Given the description of an element on the screen output the (x, y) to click on. 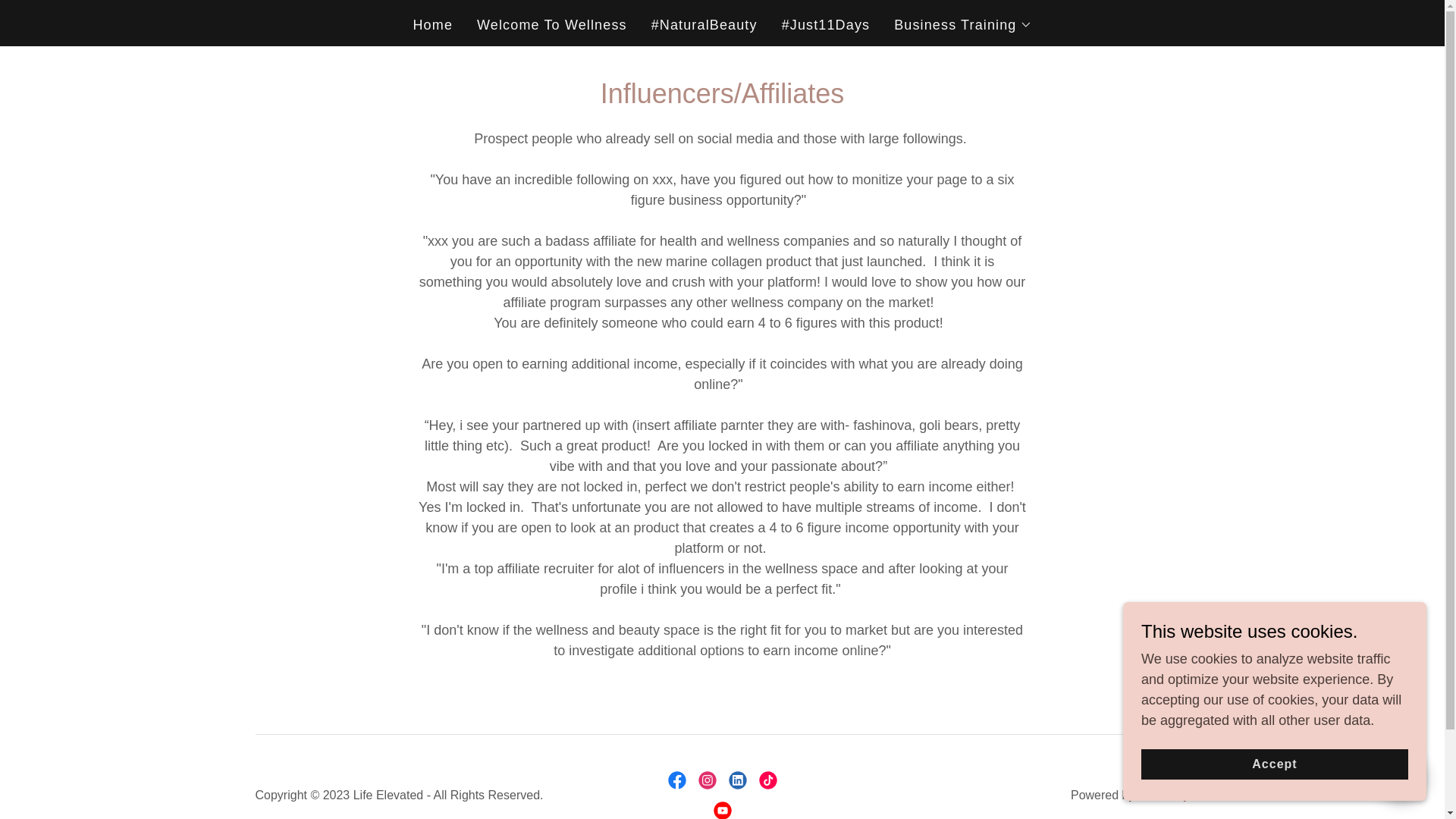
Business Training (961, 24)
Welcome To Wellness (551, 24)
Home (432, 24)
